Given the description of an element on the screen output the (x, y) to click on. 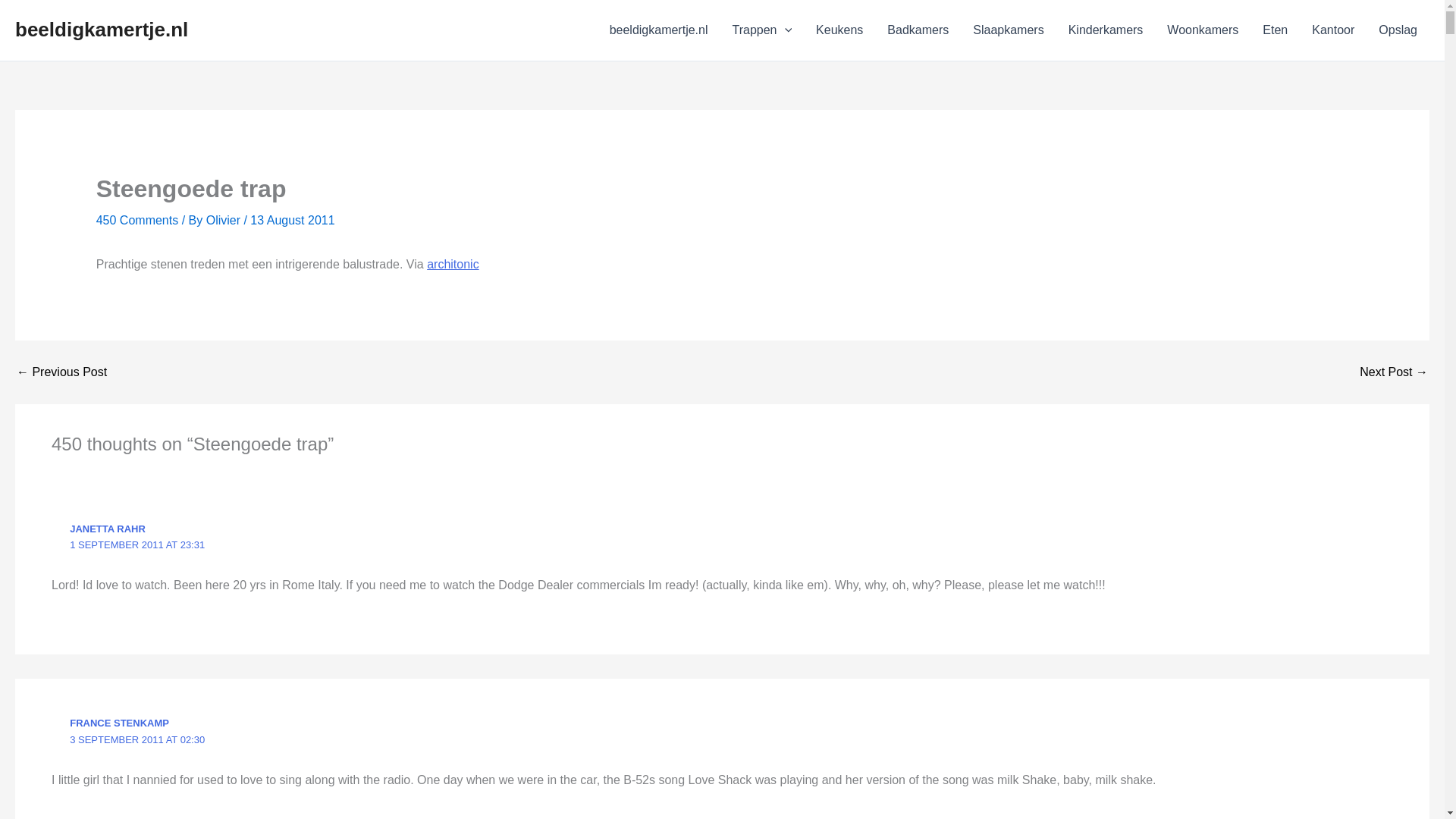
Olivier (225, 219)
Opslag (1398, 30)
architonic (452, 264)
beeldigkamertje.nl (658, 30)
beeldigkamertje.nl (100, 29)
Roze (61, 372)
Kantoor (1333, 30)
Witte balustrade (1393, 372)
450 Comments (137, 219)
Kinderkamers (1106, 30)
